Given the description of an element on the screen output the (x, y) to click on. 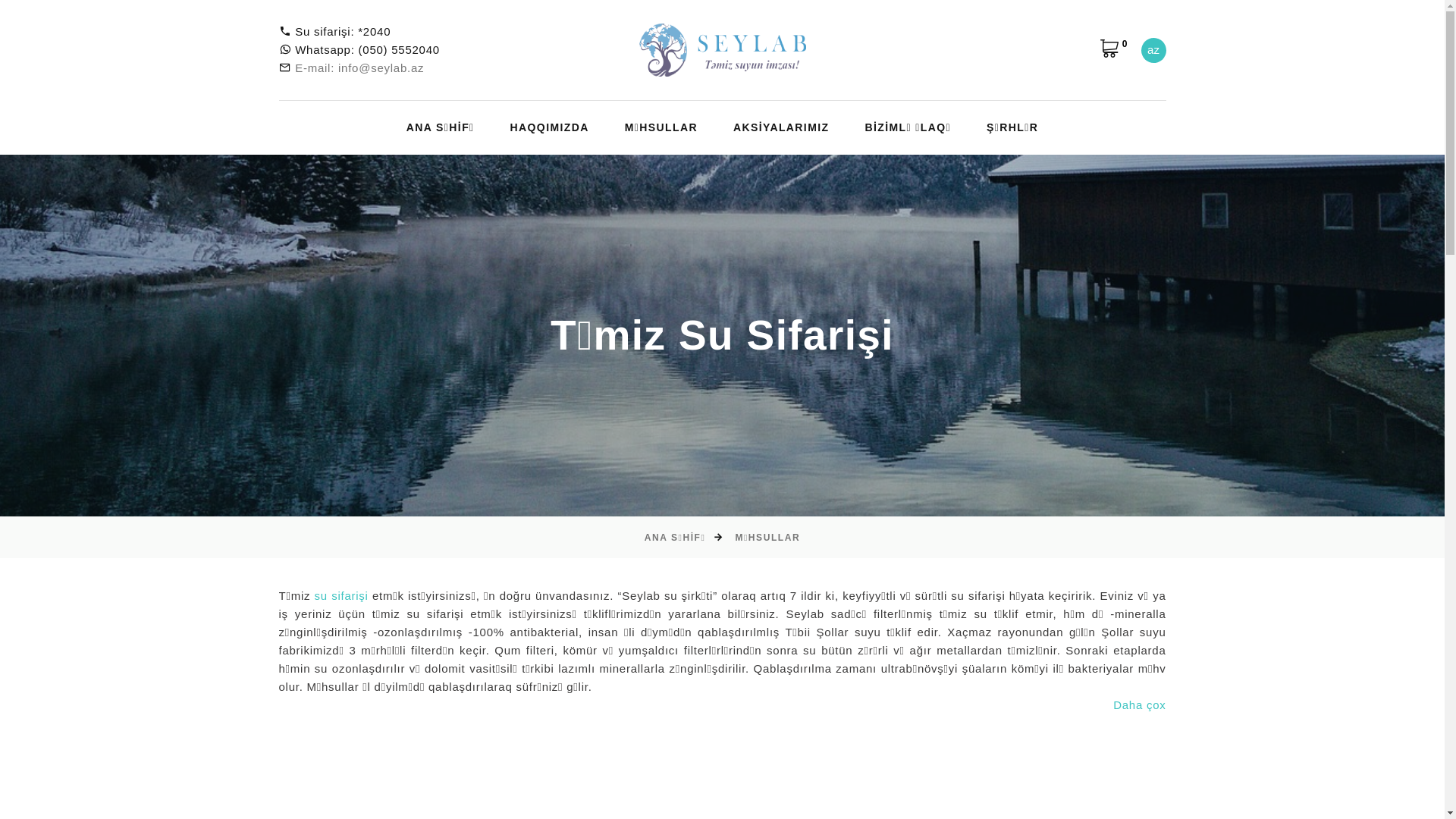
AKSIYALARIMIZ Element type: text (781, 127)
Whatsapp: (050) 5552040 Element type: text (366, 49)
0 Element type: text (1112, 48)
HAQQIMIZDA Element type: text (549, 127)
E-mail: info@seylab.az Element type: text (358, 67)
